Given the description of an element on the screen output the (x, y) to click on. 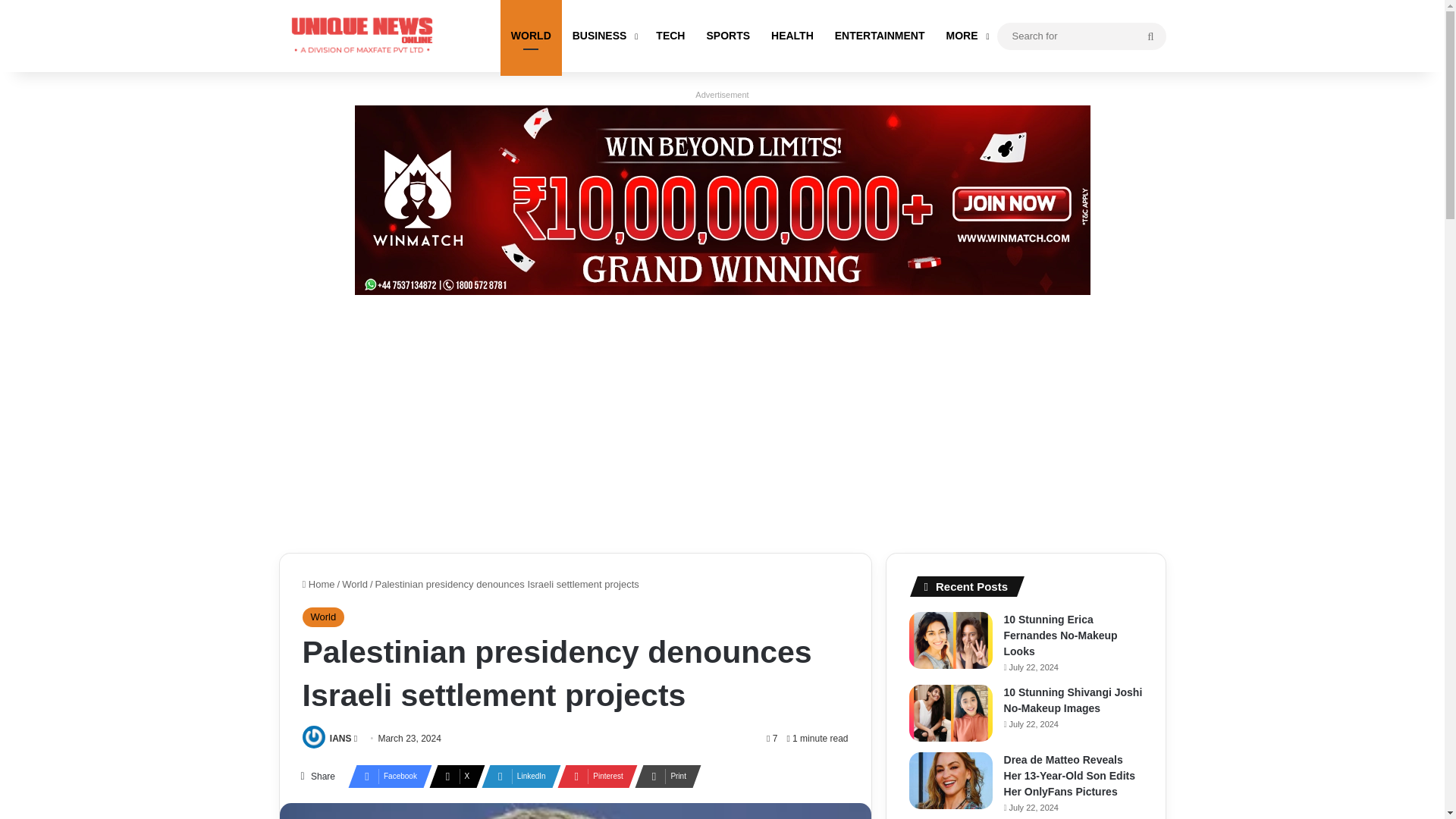
LinkedIn (516, 775)
Print (663, 775)
Unique News Online (362, 35)
Home (317, 583)
Pinterest (592, 775)
X (452, 775)
Facebook (385, 775)
IANS (341, 738)
winmatch (722, 198)
World (355, 583)
Pinterest (592, 775)
Search for (1150, 35)
SPORTS (727, 36)
Print (663, 775)
